Given the description of an element on the screen output the (x, y) to click on. 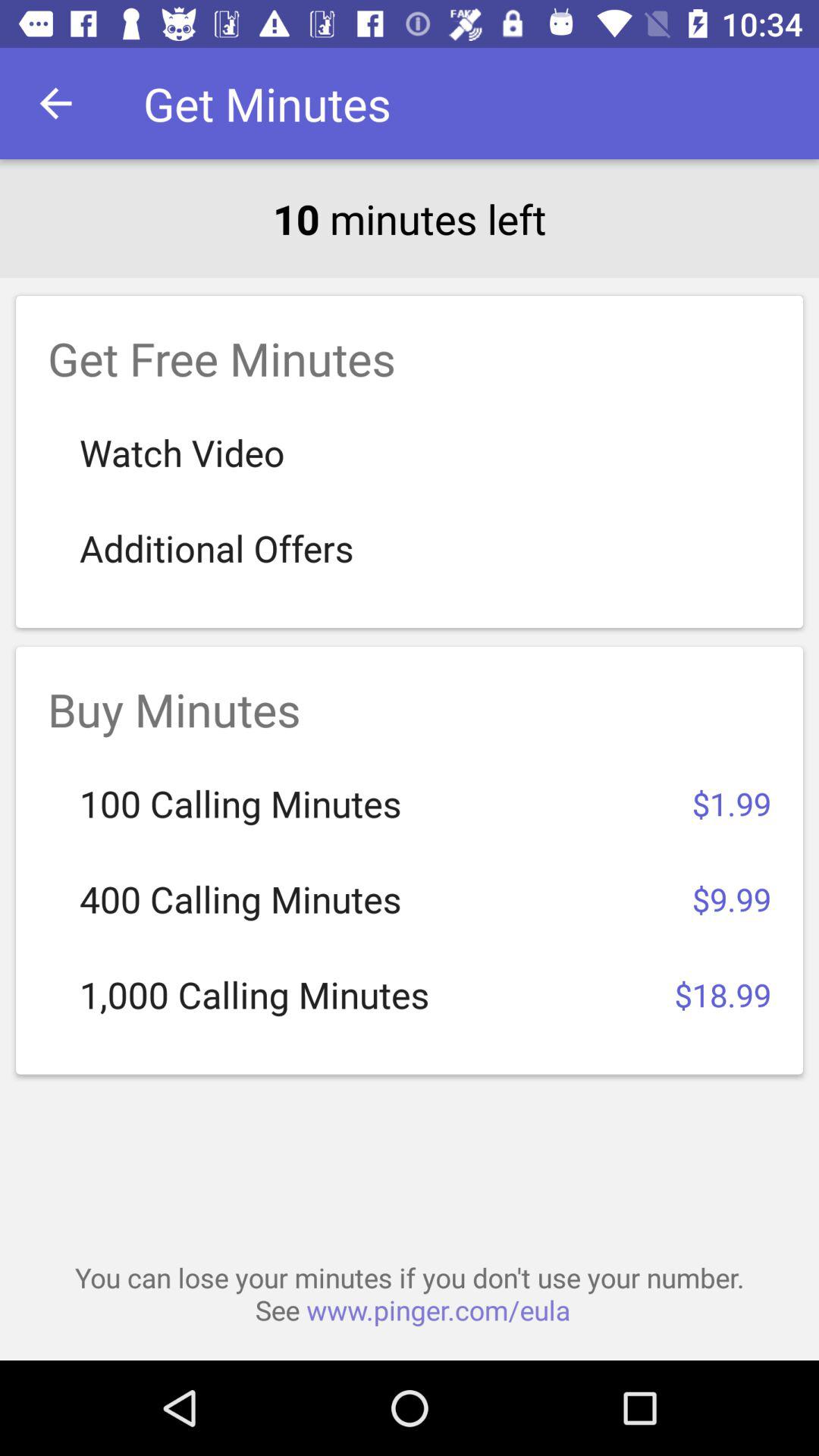
tap item next to get minutes (55, 103)
